Given the description of an element on the screen output the (x, y) to click on. 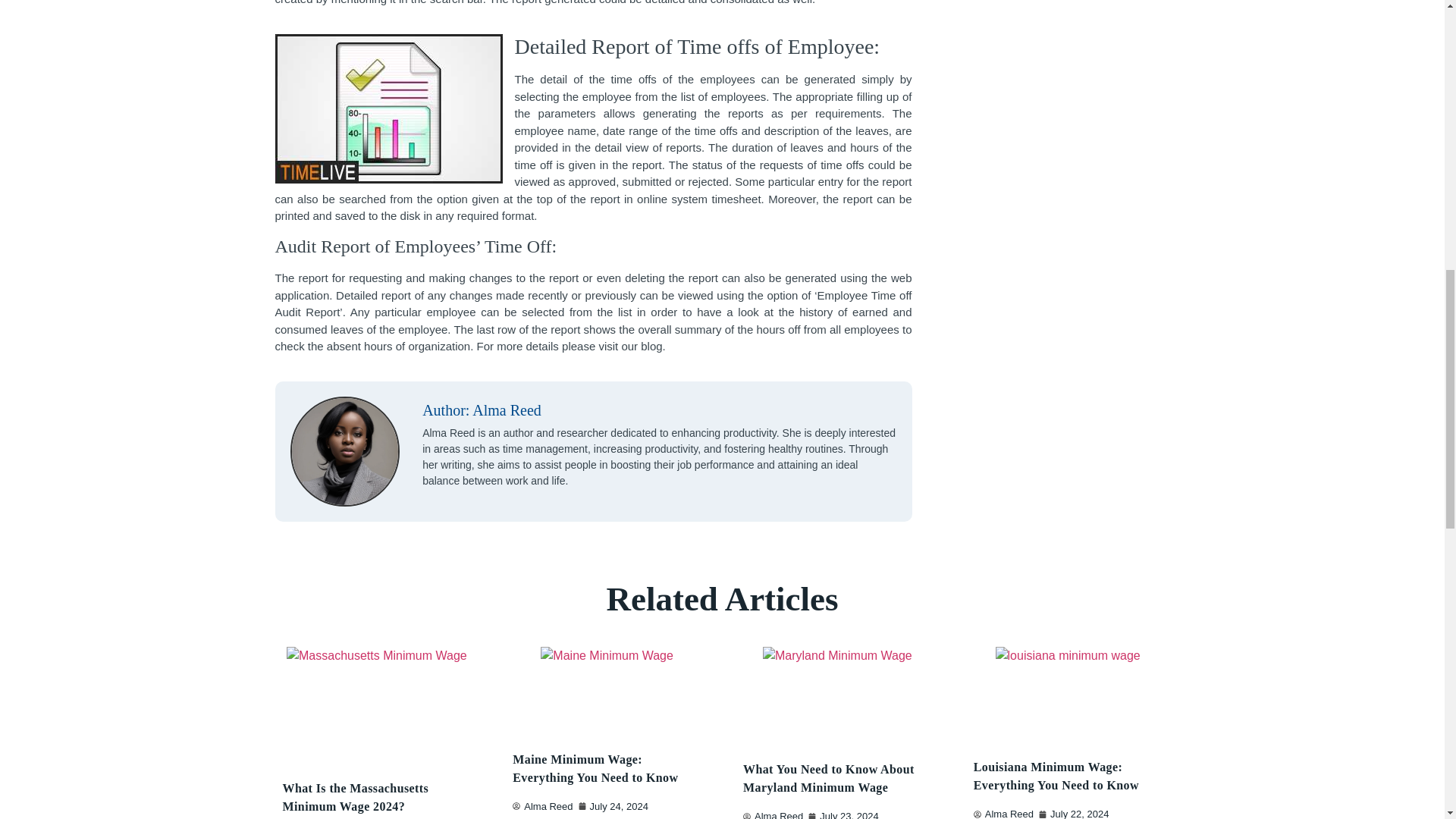
065-Maine Minimum Wage Everything You Need to Know (606, 687)
066-What You Need to Know About Maryland minimum wage (837, 692)
061-Louisiana Minimum Wage- Everything You Need to Know (1067, 691)
067-What Is the Massachusetts Minimum Wage 2024 (376, 702)
